Given the description of an element on the screen output the (x, y) to click on. 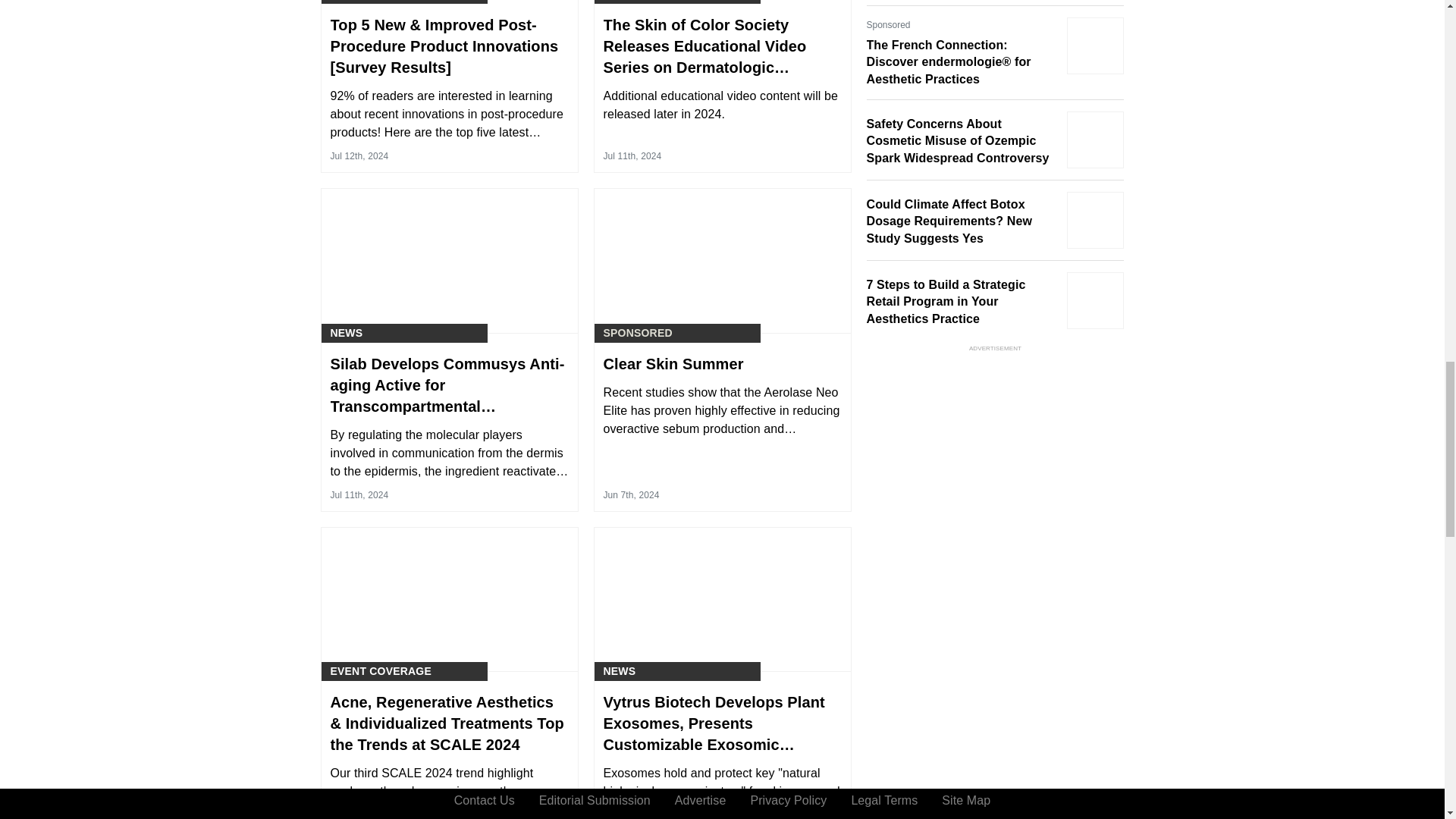
News (620, 671)
Polls (348, 1)
Sponsored (638, 333)
News (620, 1)
News (346, 333)
